Given the description of an element on the screen output the (x, y) to click on. 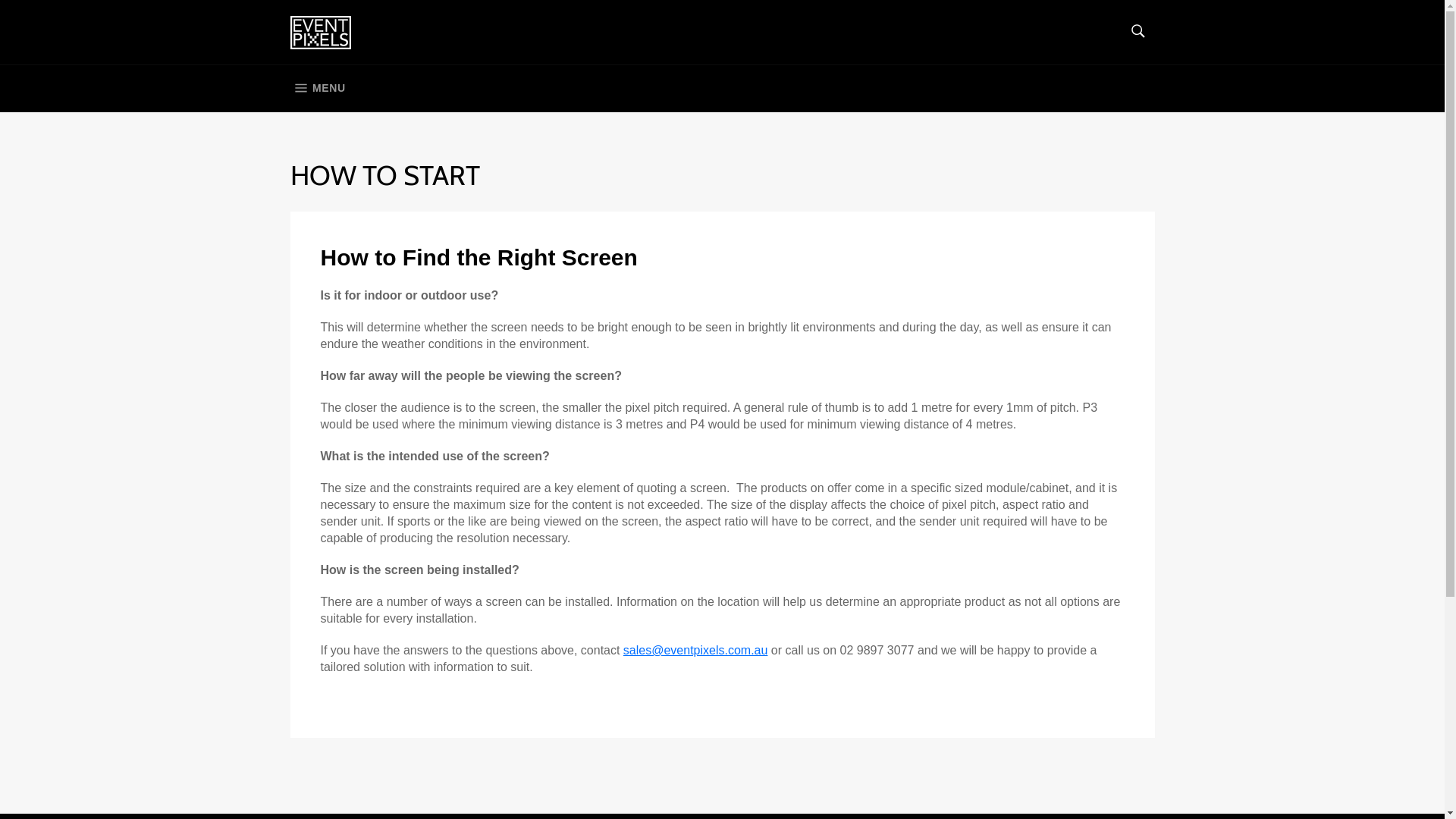
sales@eventpixels.com.au Element type: text (695, 649)
MENU
SITE NAVIGATION Element type: text (317, 88)
Search Element type: text (1137, 31)
